Given the description of an element on the screen output the (x, y) to click on. 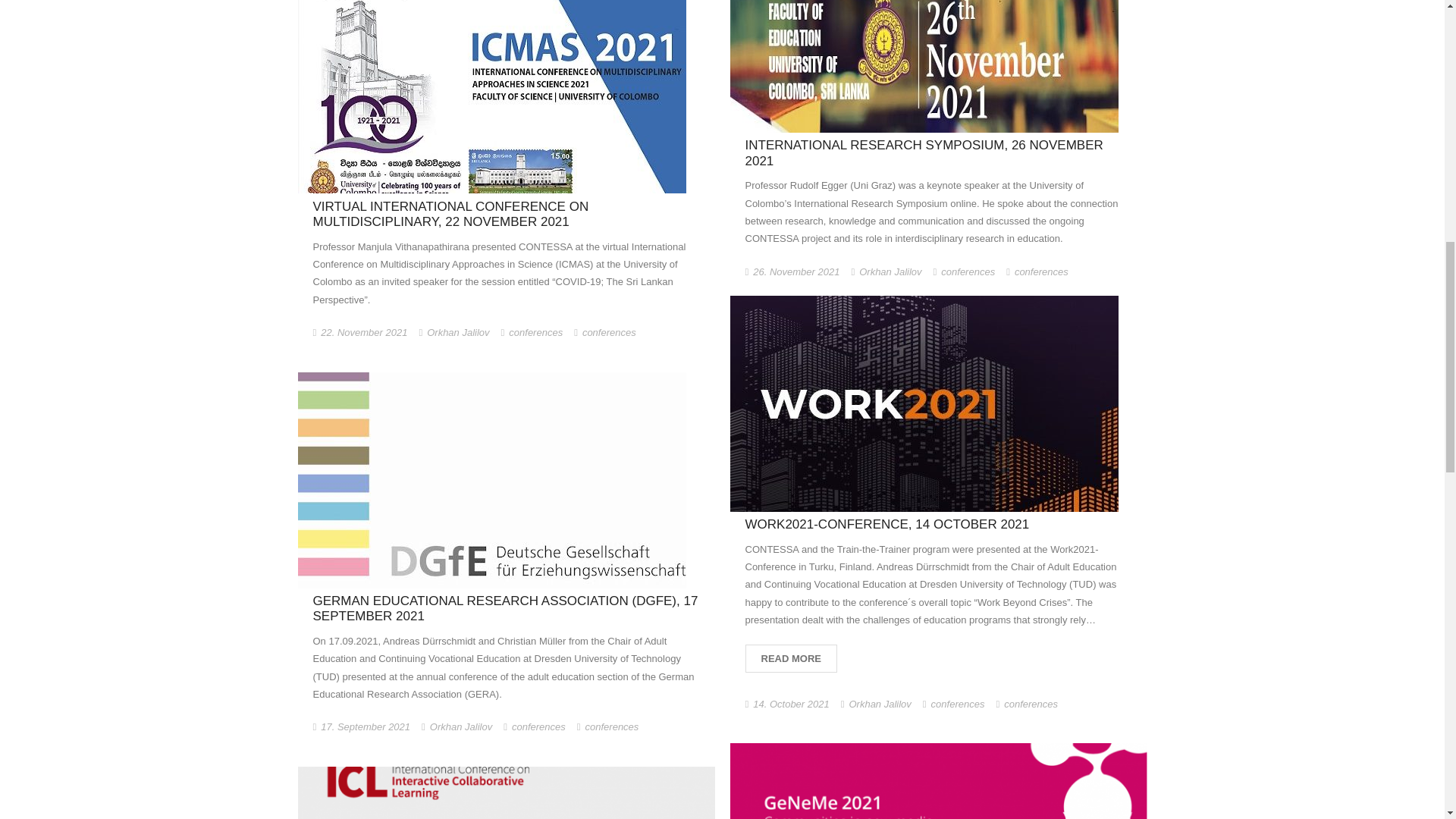
View all posts by Orkhan Jalilov (890, 271)
View all posts by Orkhan Jalilov (457, 332)
International Research Symposium, 26 November 2021 (796, 271)
